Given the description of an element on the screen output the (x, y) to click on. 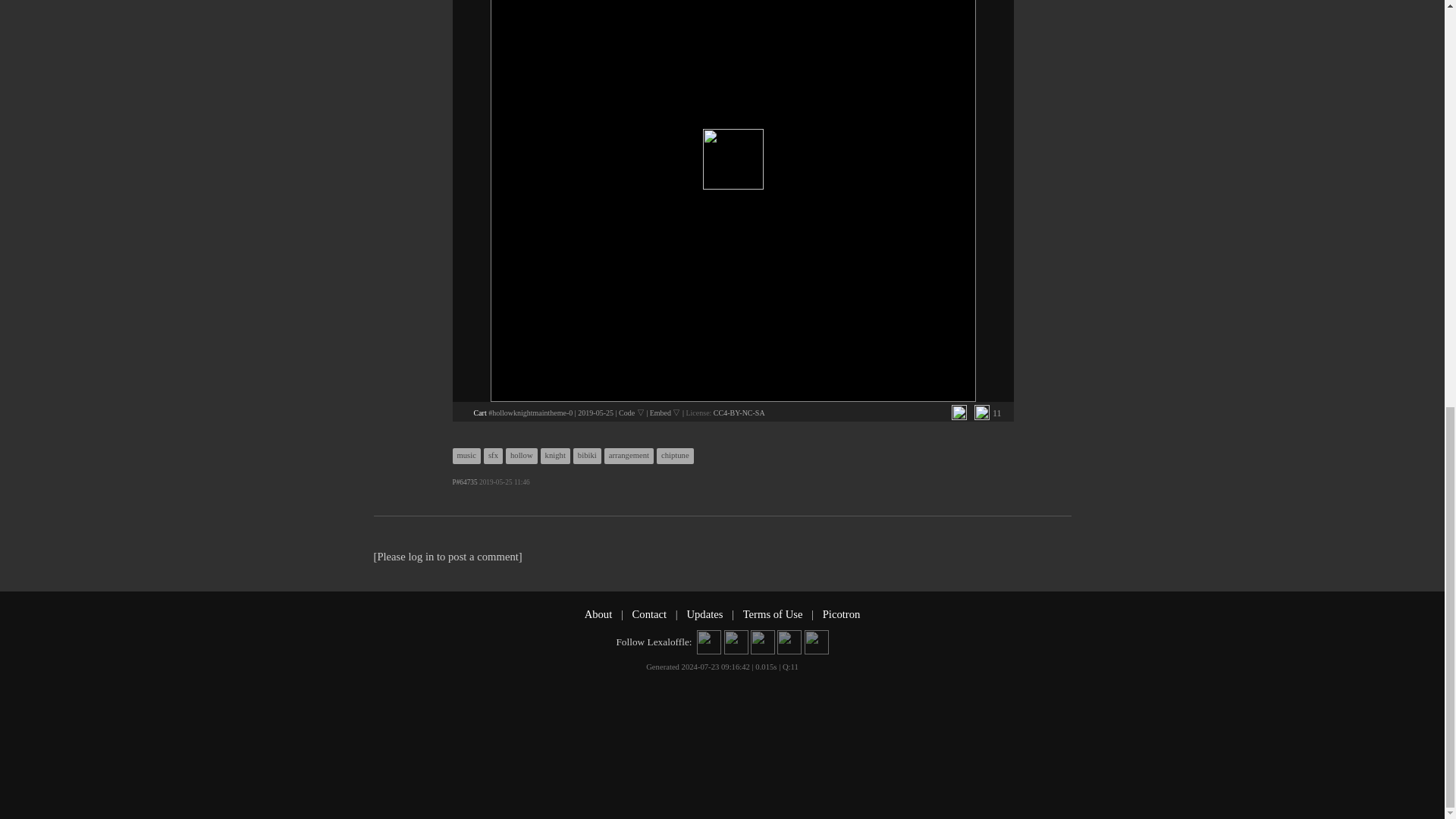
Open Cartridge File (479, 412)
Add to your favourites collection (959, 412)
Give this post a star (982, 412)
2019-05-25 11:46:15 (595, 412)
